Given the description of an element on the screen output the (x, y) to click on. 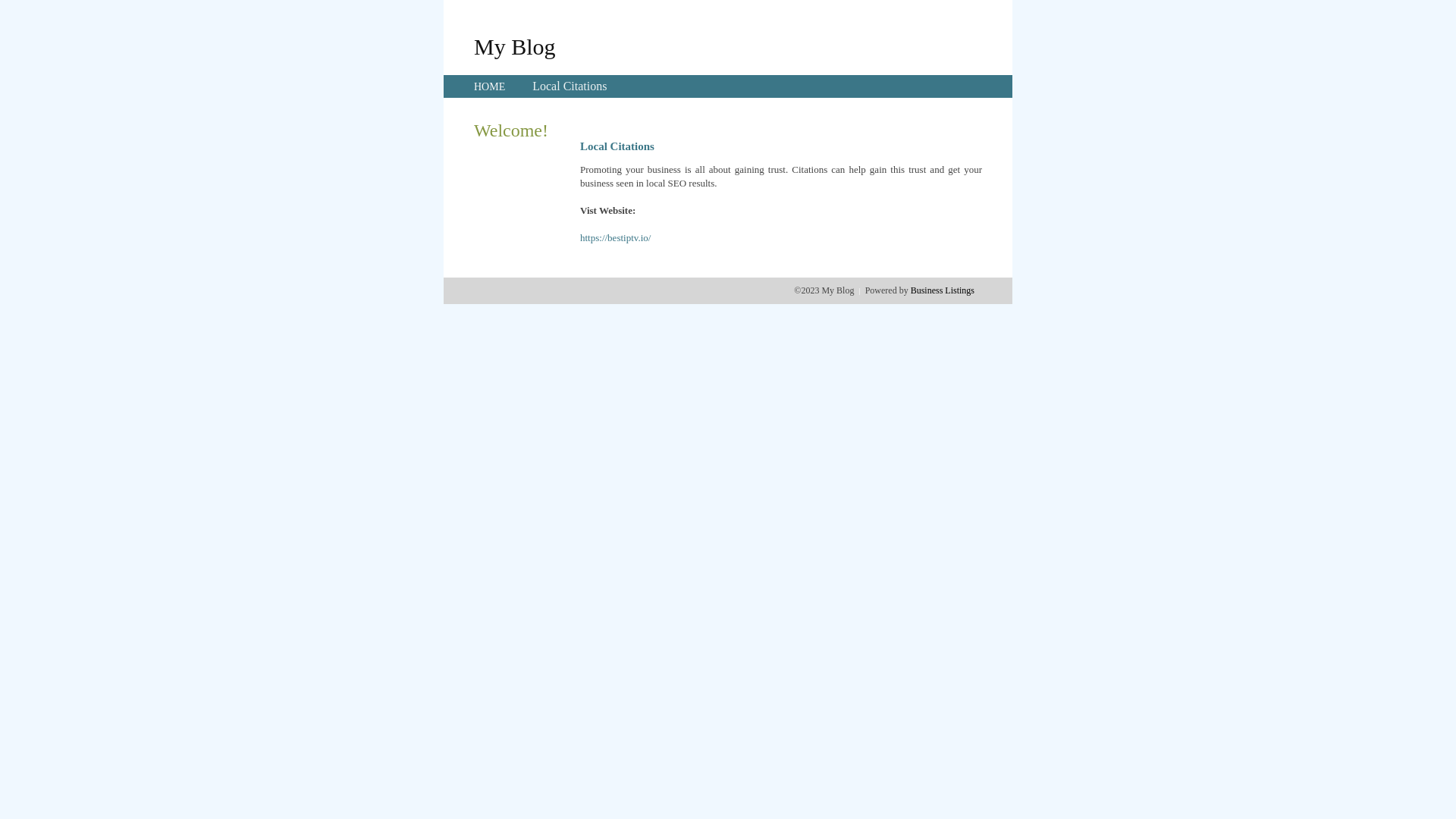
Business Listings Element type: text (942, 290)
My Blog Element type: text (514, 46)
https://bestiptv.io/ Element type: text (615, 237)
Local Citations Element type: text (569, 85)
HOME Element type: text (489, 86)
